Given the description of an element on the screen output the (x, y) to click on. 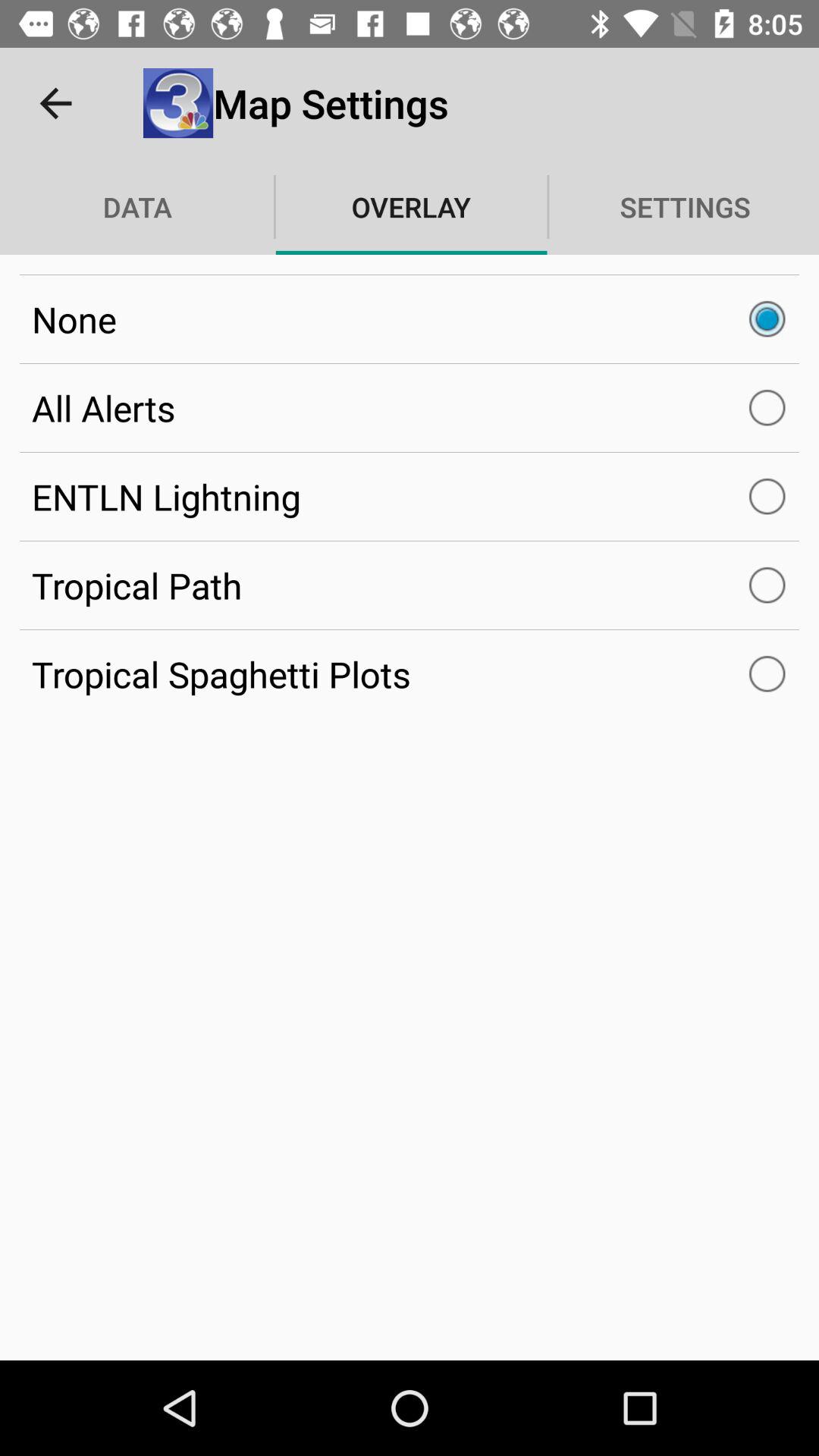
press the none item (409, 319)
